Given the description of an element on the screen output the (x, y) to click on. 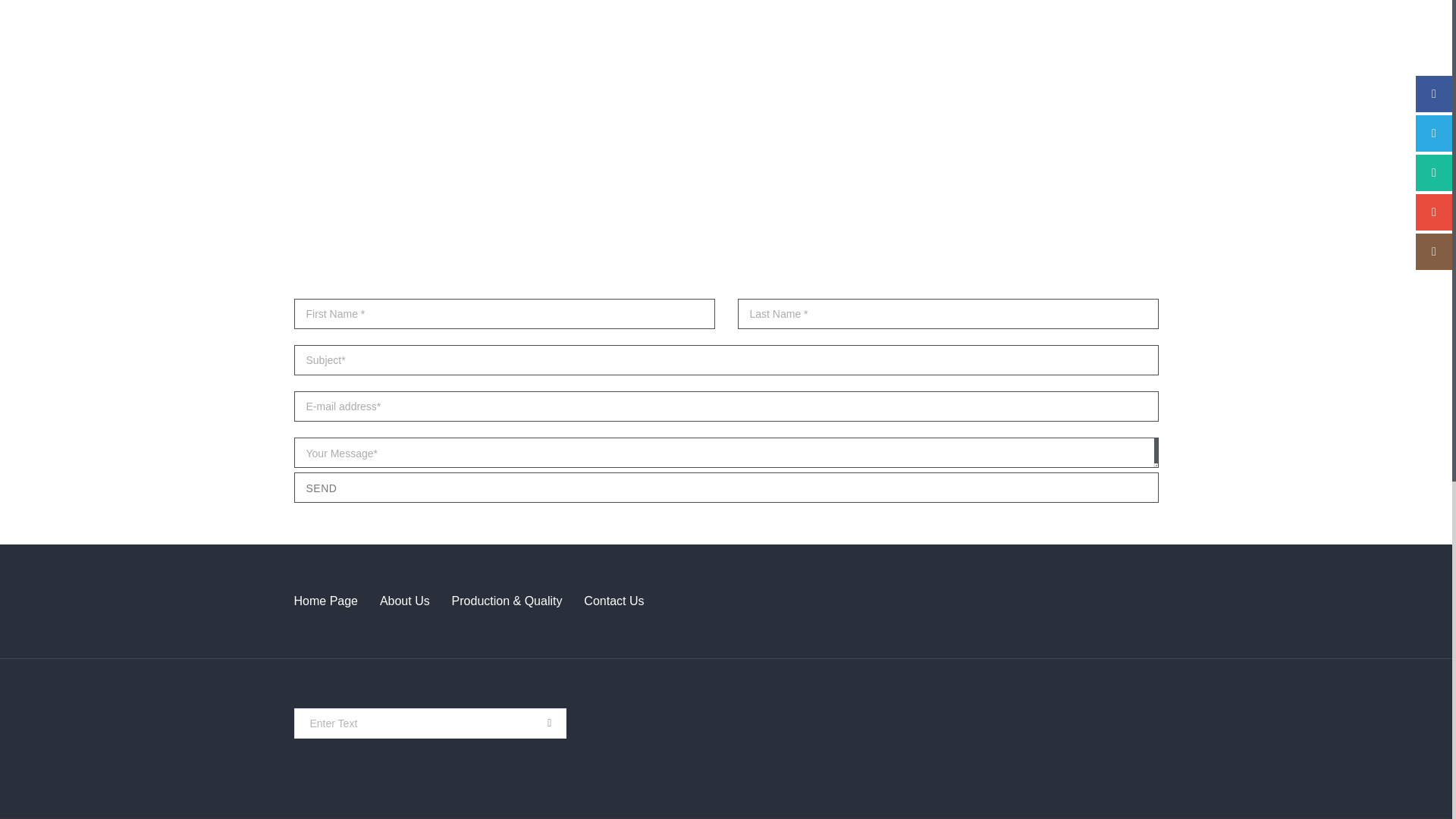
Send (726, 487)
Search for: (430, 723)
